Given the description of an element on the screen output the (x, y) to click on. 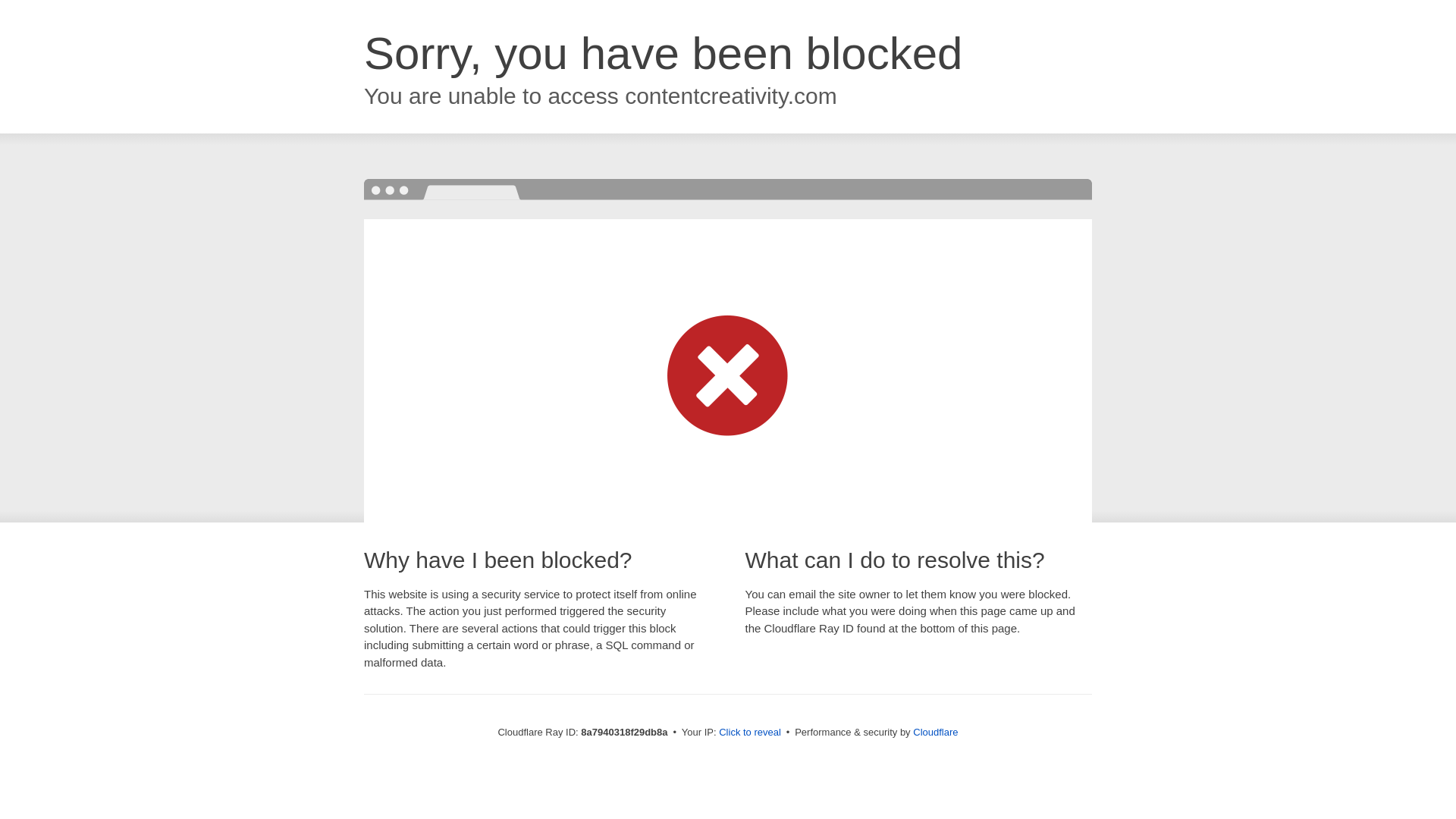
Click to reveal (749, 732)
Cloudflare (935, 731)
